Given the description of an element on the screen output the (x, y) to click on. 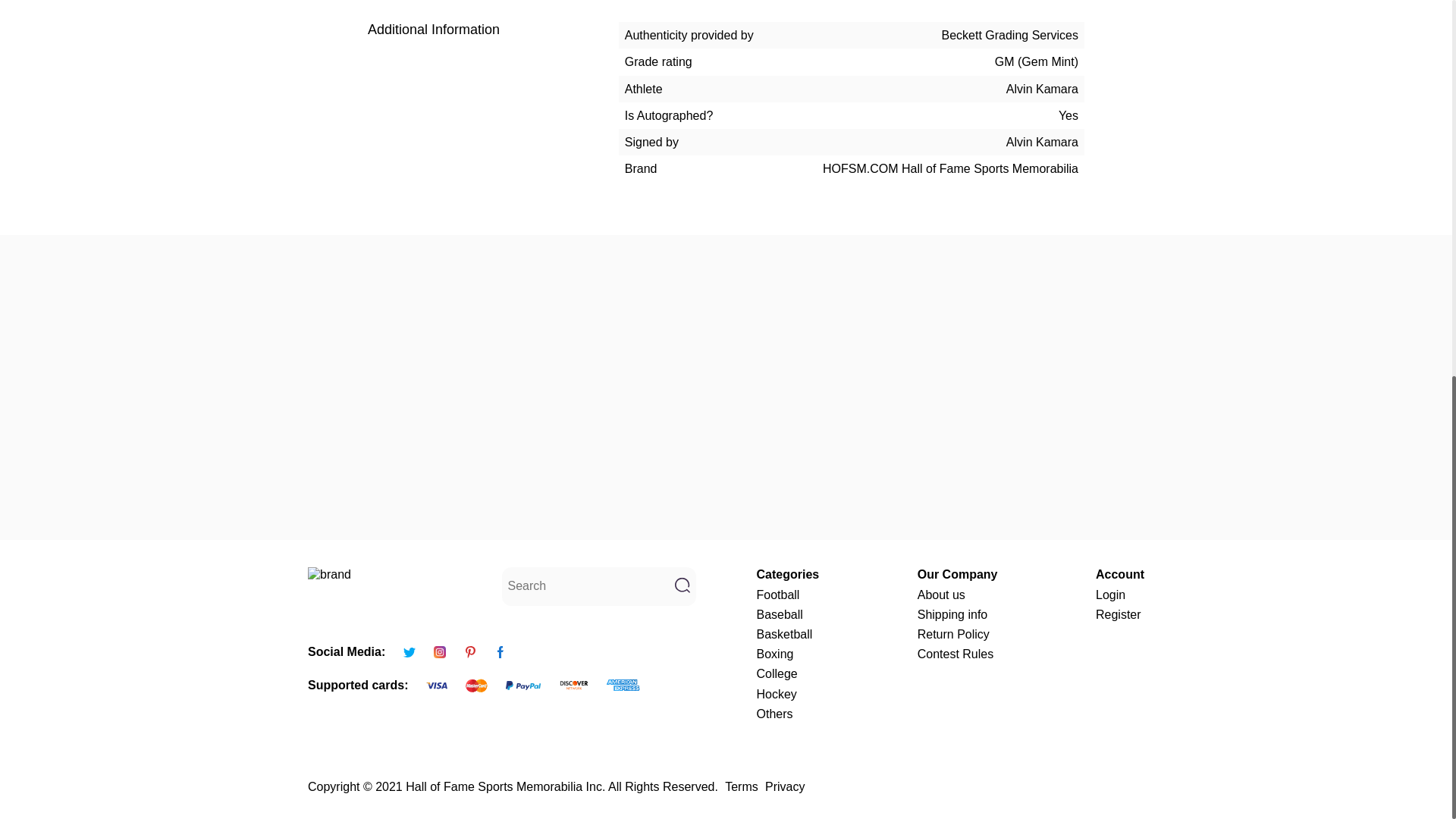
About us (957, 594)
Terms (741, 786)
Others (788, 713)
Shipping info (957, 614)
Privacy (785, 786)
Basketball (788, 634)
Football (788, 594)
Hockey (788, 693)
Login (1120, 594)
Boxing (788, 653)
